Given the description of an element on the screen output the (x, y) to click on. 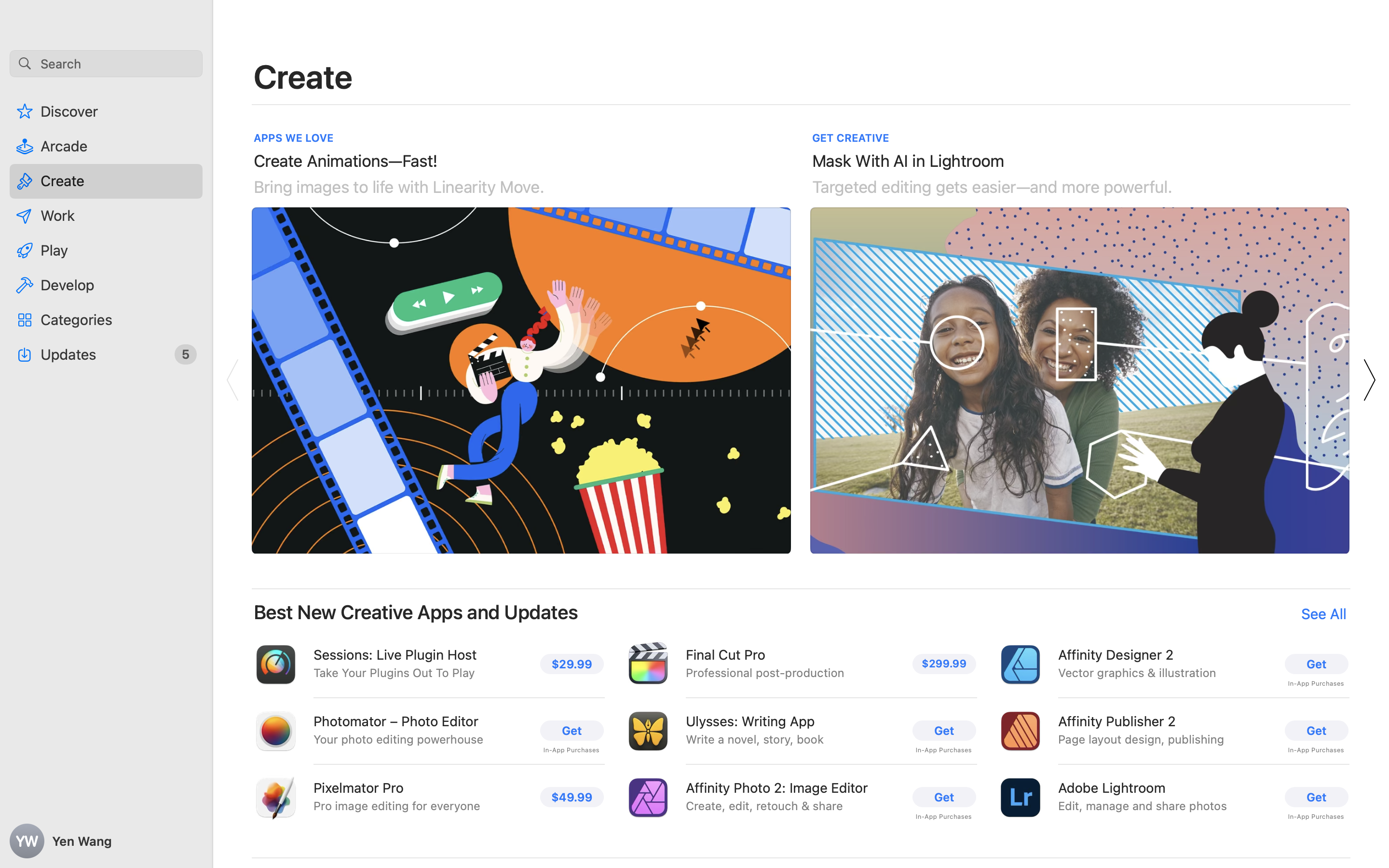
Yen Wang Element type: AXButton (106, 840)
Create Element type: AXStaticText (302, 75)
Best New Creative Apps and Updates Element type: AXStaticText (415, 611)
